Given the description of an element on the screen output the (x, y) to click on. 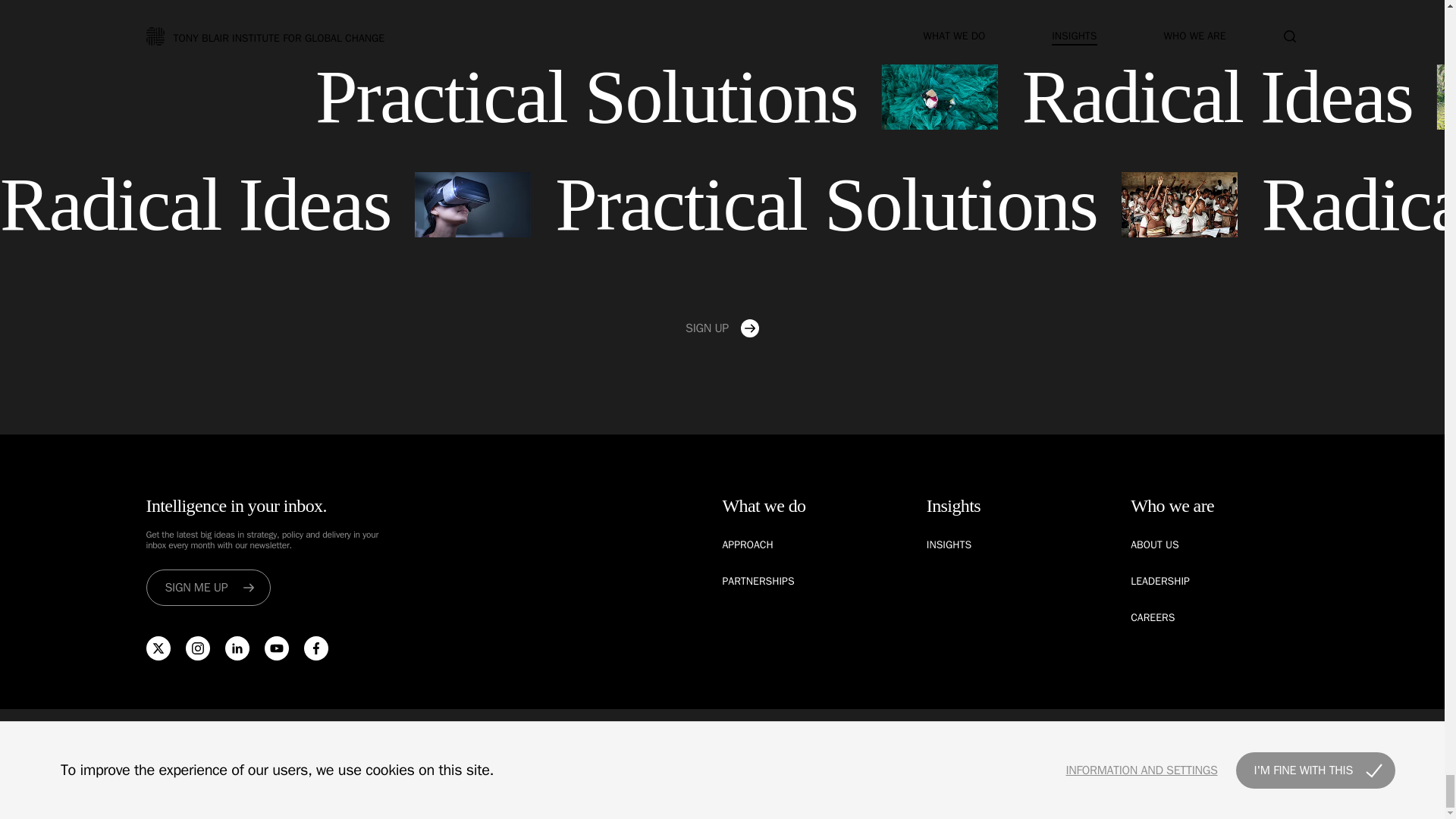
instagram (196, 648)
linkedin (236, 648)
Sign Me Up (207, 587)
Sign up (721, 328)
facebook (314, 648)
youtube (275, 648)
X (157, 648)
